Given the description of an element on the screen output the (x, y) to click on. 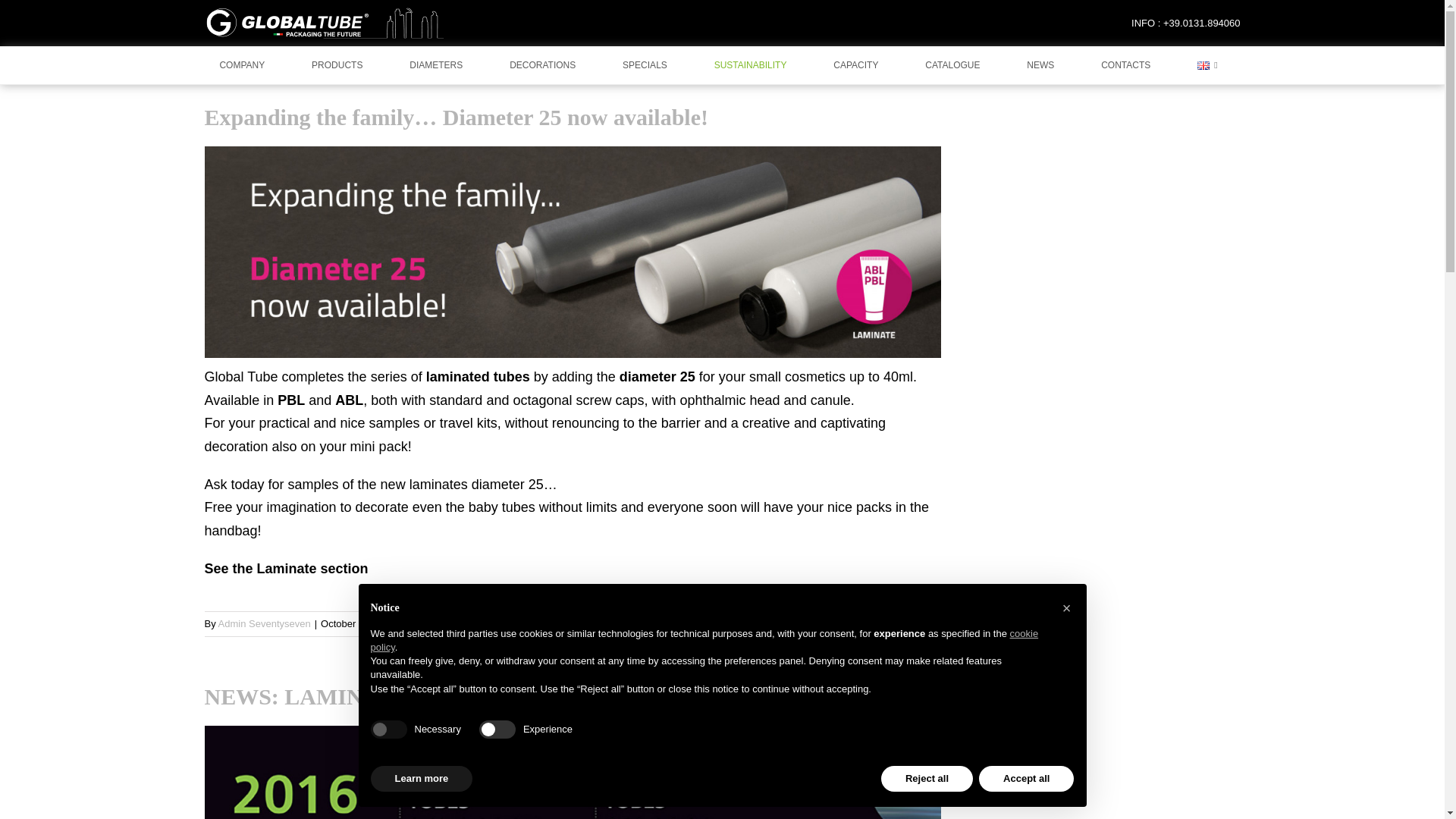
DECORATIONS (542, 64)
3 (573, 772)
Posts by Admin Seventyseven (264, 623)
DIAMETERS (435, 64)
CAPACITY (854, 64)
false (497, 729)
CATALOGUE (951, 64)
SPECIALS (644, 64)
PRODUCTS (336, 64)
Global Tube presents the new generation of Laminated Tubes (573, 772)
COMPANY (241, 64)
true (387, 729)
SUSTAINABILITY (750, 64)
CONTACTS (1125, 64)
NEWS (1040, 64)
